Given the description of an element on the screen output the (x, y) to click on. 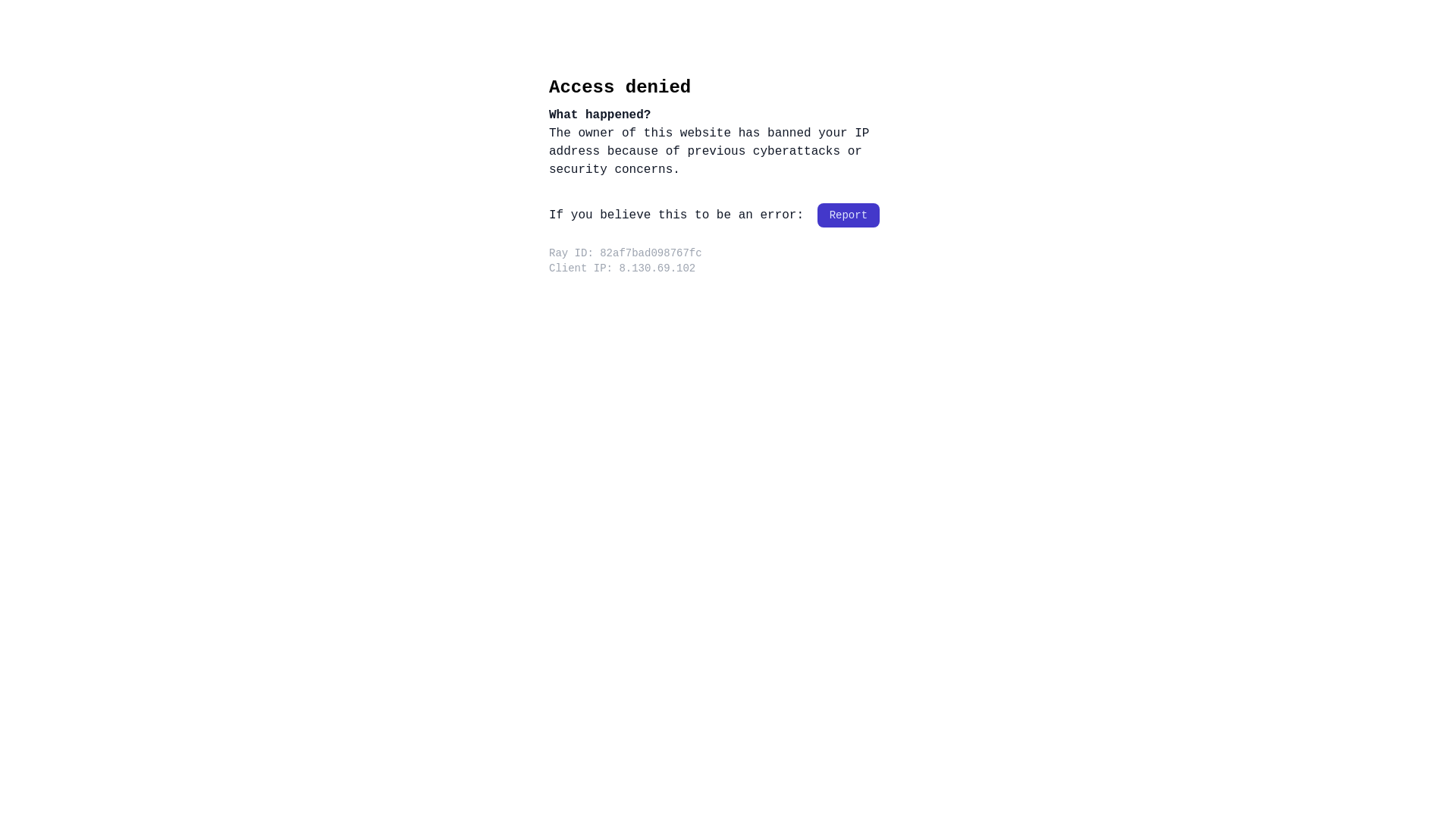
Report Element type: text (848, 215)
